Given the description of an element on the screen output the (x, y) to click on. 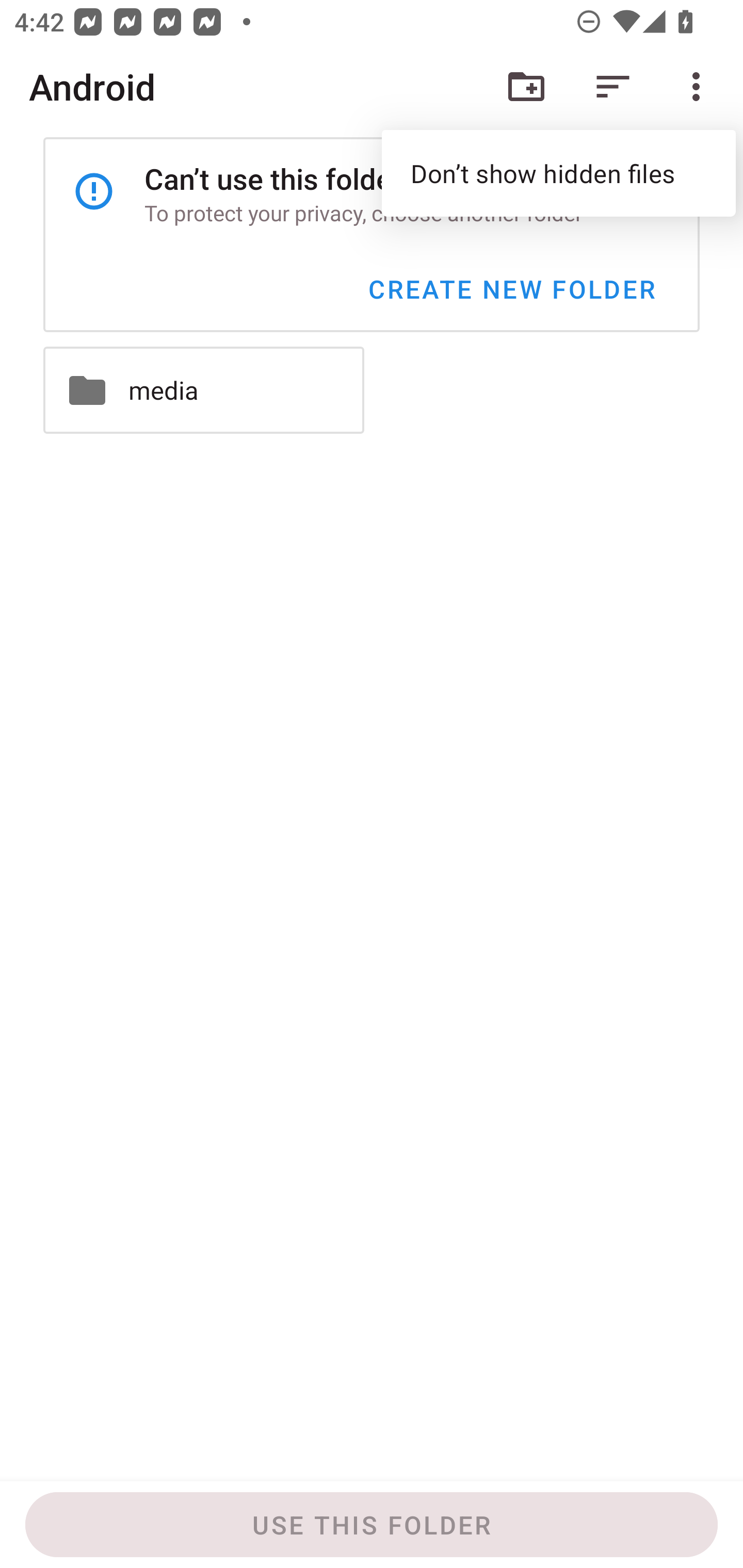
Don’t show hidden files (558, 173)
